Given the description of an element on the screen output the (x, y) to click on. 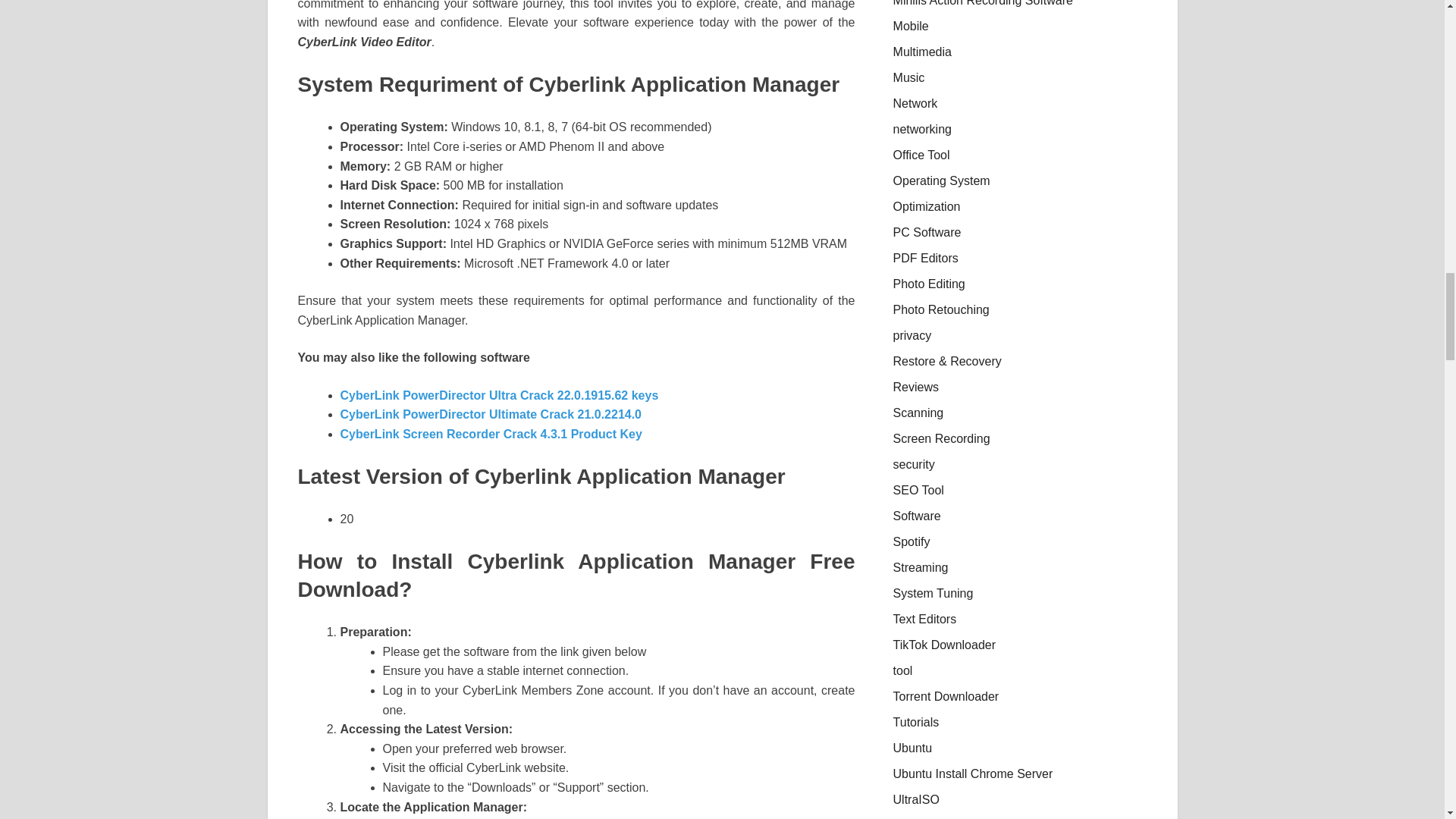
CyberLink PowerDirector Ultra Crack 22.0.1915.62 keys (498, 395)
CyberLink PowerDirector Ultimate Crack 21.0.2214.0 (490, 413)
CyberLink Screen Recorder Crack 4.3.1 Product Key (490, 433)
